Given the description of an element on the screen output the (x, y) to click on. 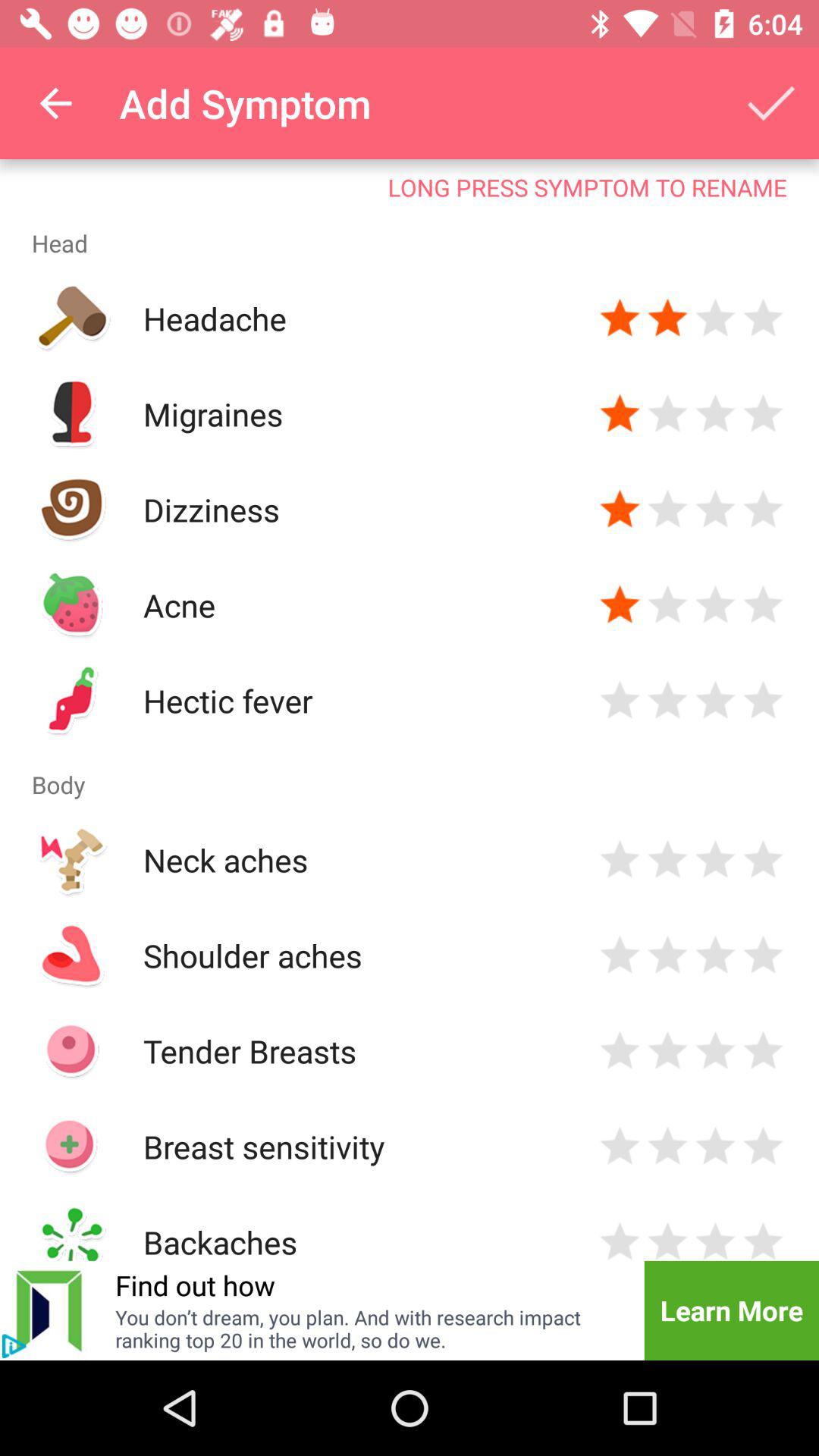
three star rating (715, 1146)
